Given the description of an element on the screen output the (x, y) to click on. 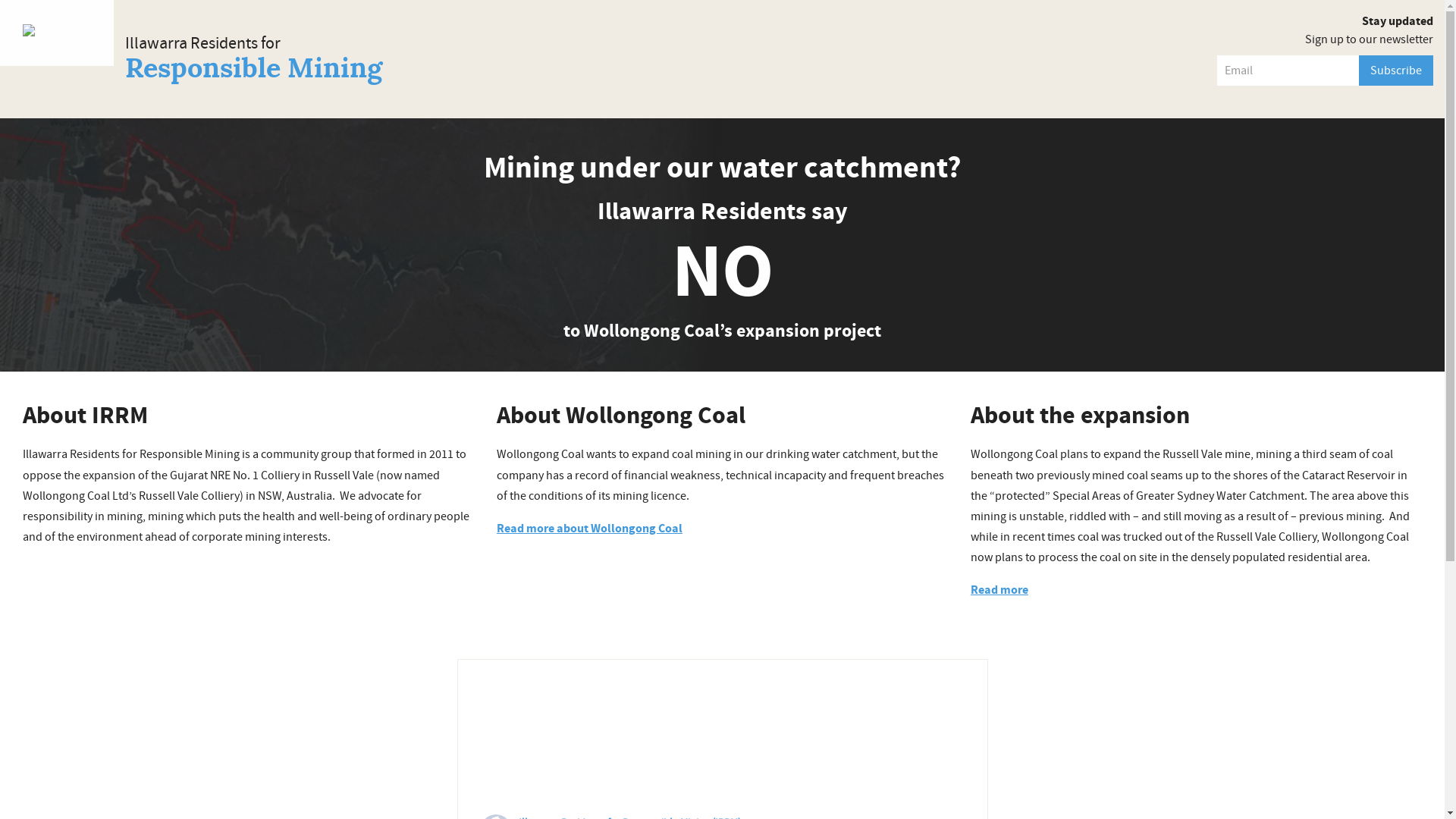
Read more Element type: text (999, 589)
Read more about Wollongong Coal Element type: text (589, 528)
Subscribe Element type: text (1395, 70)
